Given the description of an element on the screen output the (x, y) to click on. 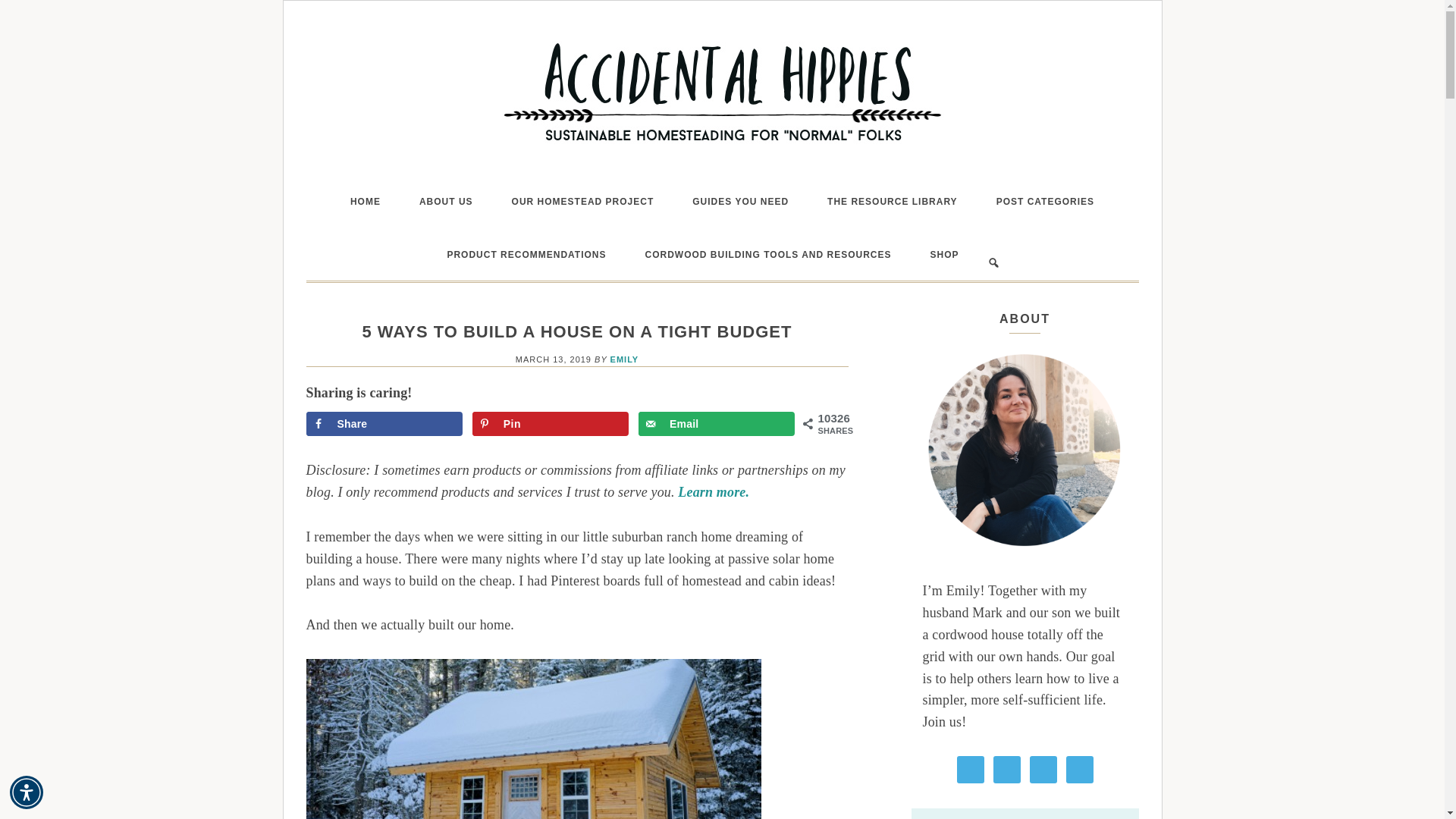
Learn more. (713, 491)
HOME (364, 201)
ACCIDENTAL HIPPIES (722, 93)
POST CATEGORIES (1044, 201)
ABOUT US (446, 201)
SHOP (944, 255)
CORDWOOD BUILDING TOOLS AND RESOURCES (768, 255)
EMILY (624, 358)
Share on Facebook (384, 423)
GUIDES YOU NEED (740, 201)
OUR HOMESTEAD PROJECT (582, 201)
Pin (549, 423)
Accessibility Menu (26, 792)
Share (384, 423)
